Given the description of an element on the screen output the (x, y) to click on. 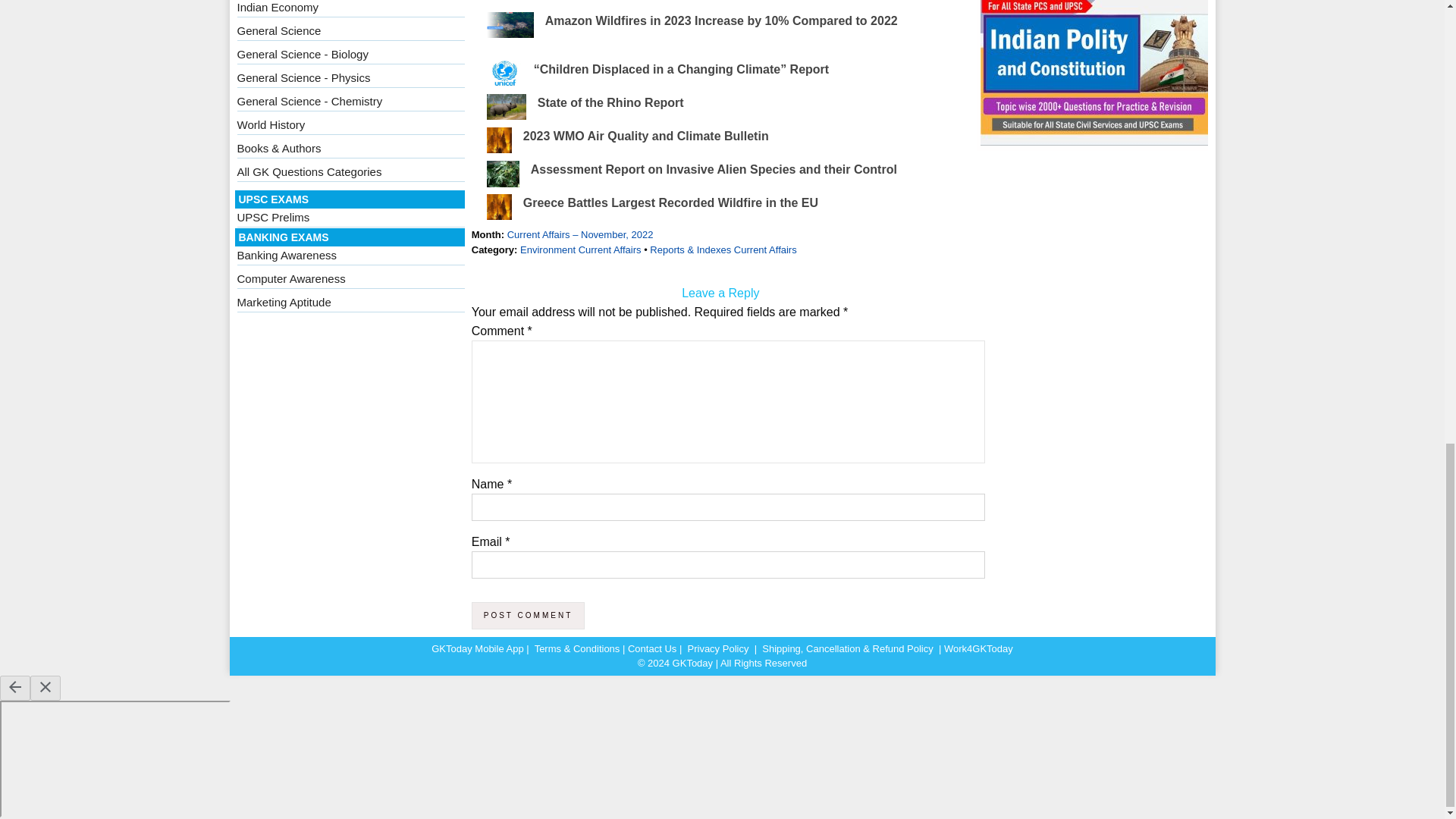
State of the Rhino Report (610, 102)
2023 WMO Air Quality and Climate Bulletin (645, 135)
Post Comment (528, 615)
Post Comment (528, 615)
State of the Rhino Report (610, 102)
Environment Current Affairs (579, 249)
2023 WMO Air Quality and Climate Bulletin (645, 135)
Greece Battles Largest Recorded Wildfire in the EU (670, 202)
Greece Battles Largest Recorded Wildfire in the EU (670, 202)
